Given the description of an element on the screen output the (x, y) to click on. 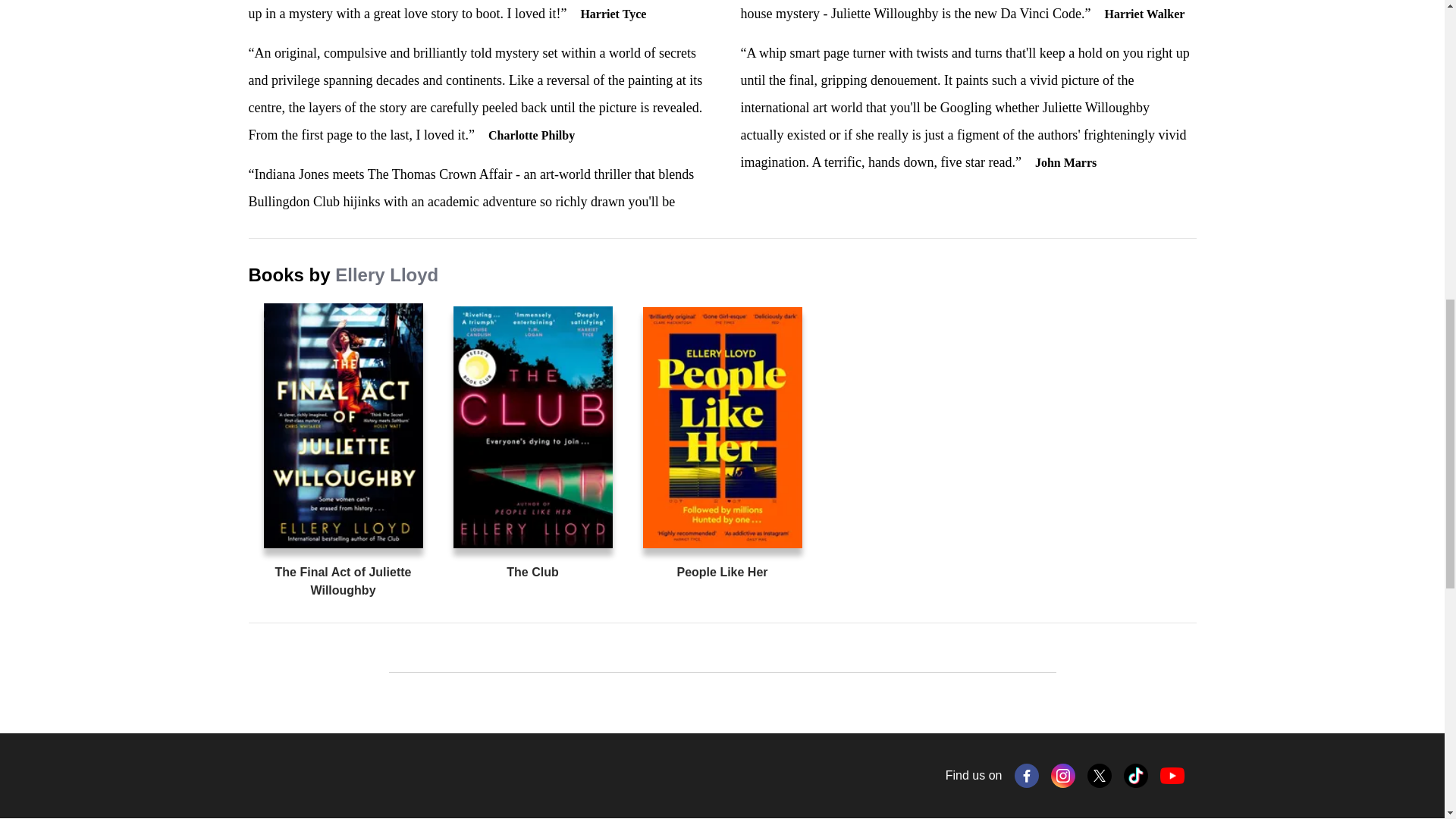
Facebook (1026, 775)
YouTube (1172, 775)
TikTok (1136, 775)
Instagram (1063, 775)
